Given the description of an element on the screen output the (x, y) to click on. 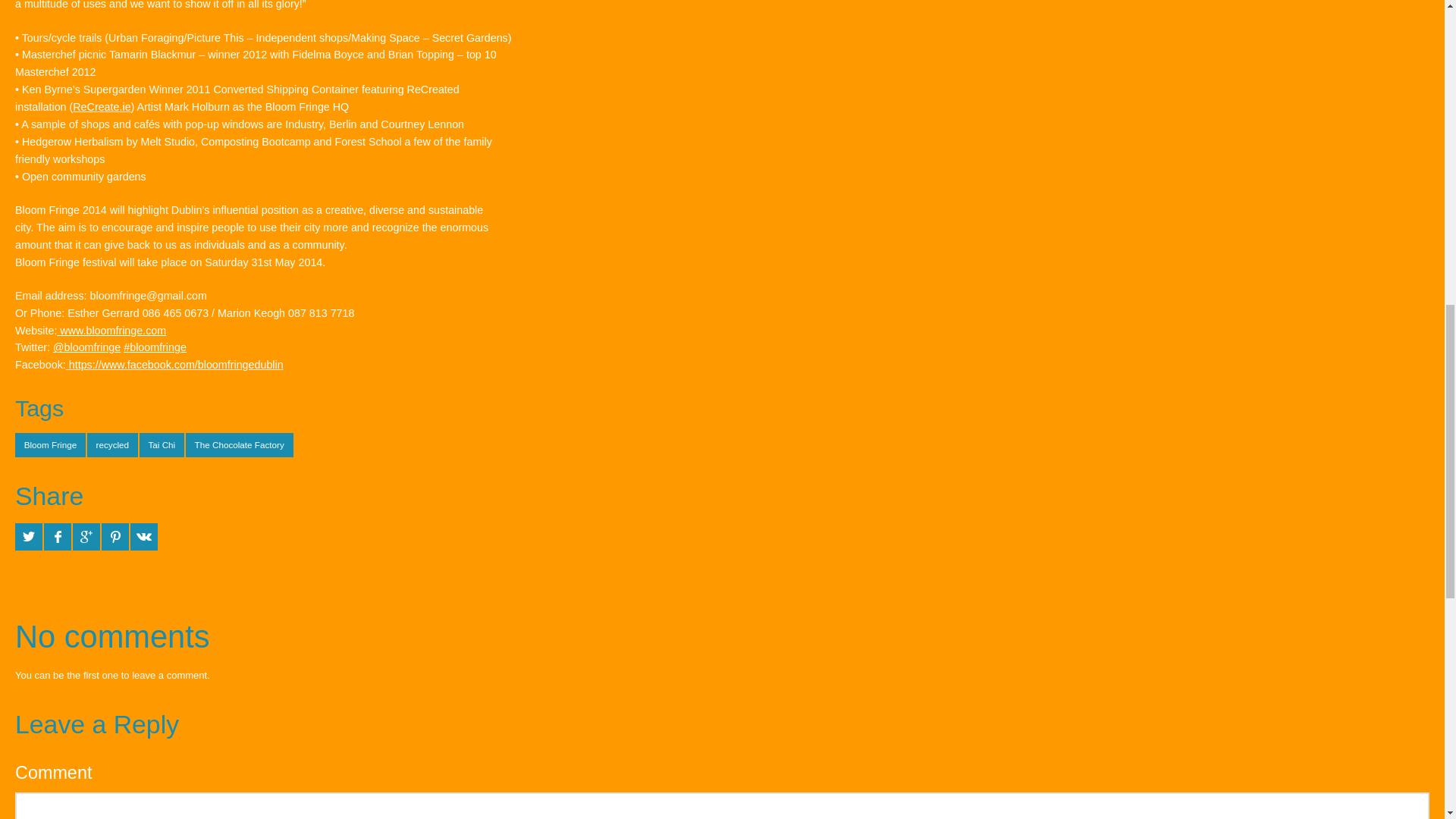
Share on VK (144, 536)
www.bloomfringe.com (110, 330)
Tweet This (28, 536)
Share on Facebook (57, 536)
Pin it (115, 536)
ReCreate.ie (101, 106)
